Given the description of an element on the screen output the (x, y) to click on. 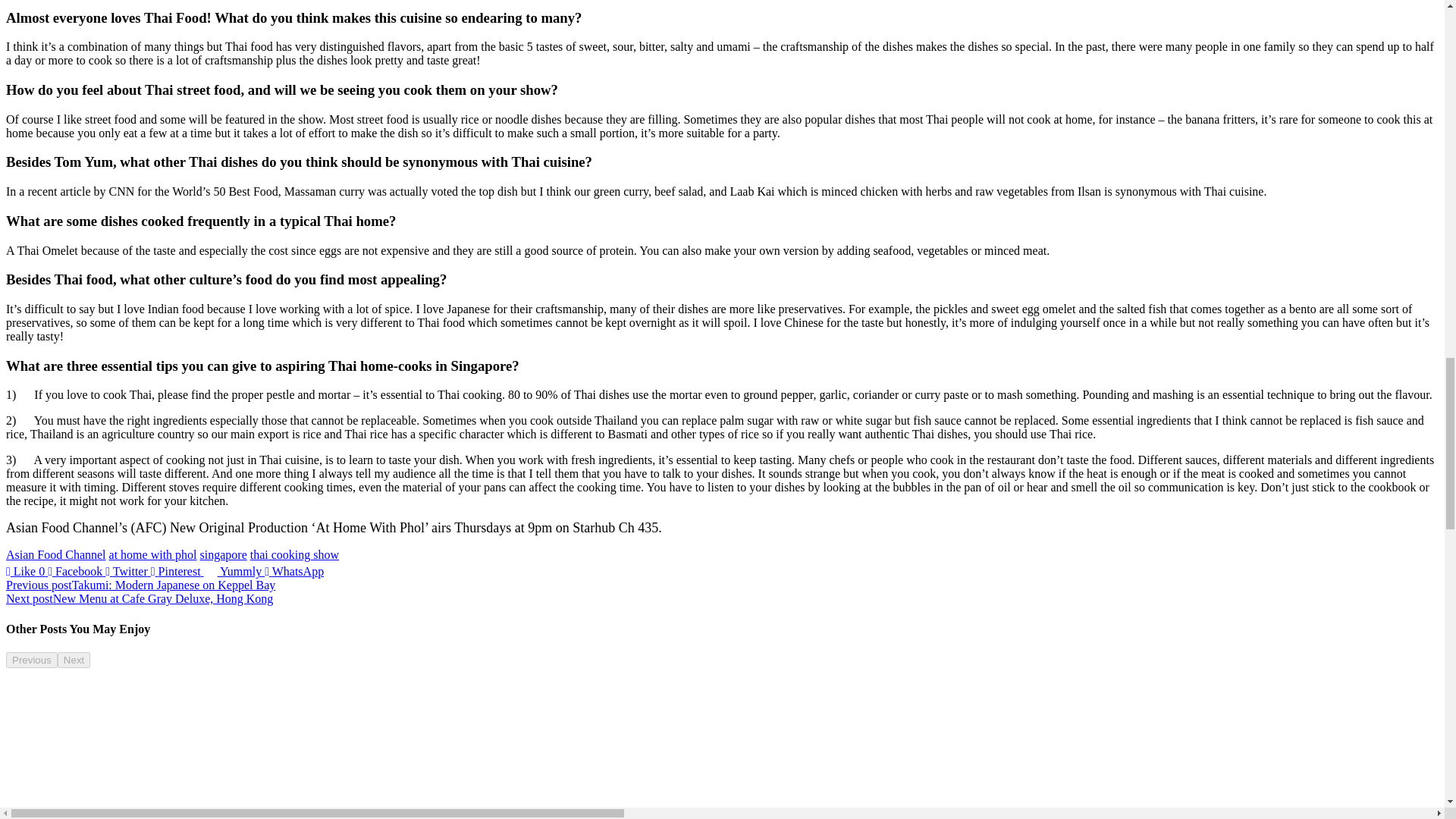
Yummly (233, 571)
Asian Food Channel (55, 554)
thai cooking show (294, 554)
WhatsApp (293, 571)
Facebook (76, 571)
Yummly (233, 571)
Like (26, 571)
Pinterest (177, 571)
Facebook (76, 571)
Twitter (127, 571)
singapore (223, 554)
WhatsApp (293, 571)
Pinterest (177, 571)
Twitter (127, 571)
at home with phol (152, 554)
